Given the description of an element on the screen output the (x, y) to click on. 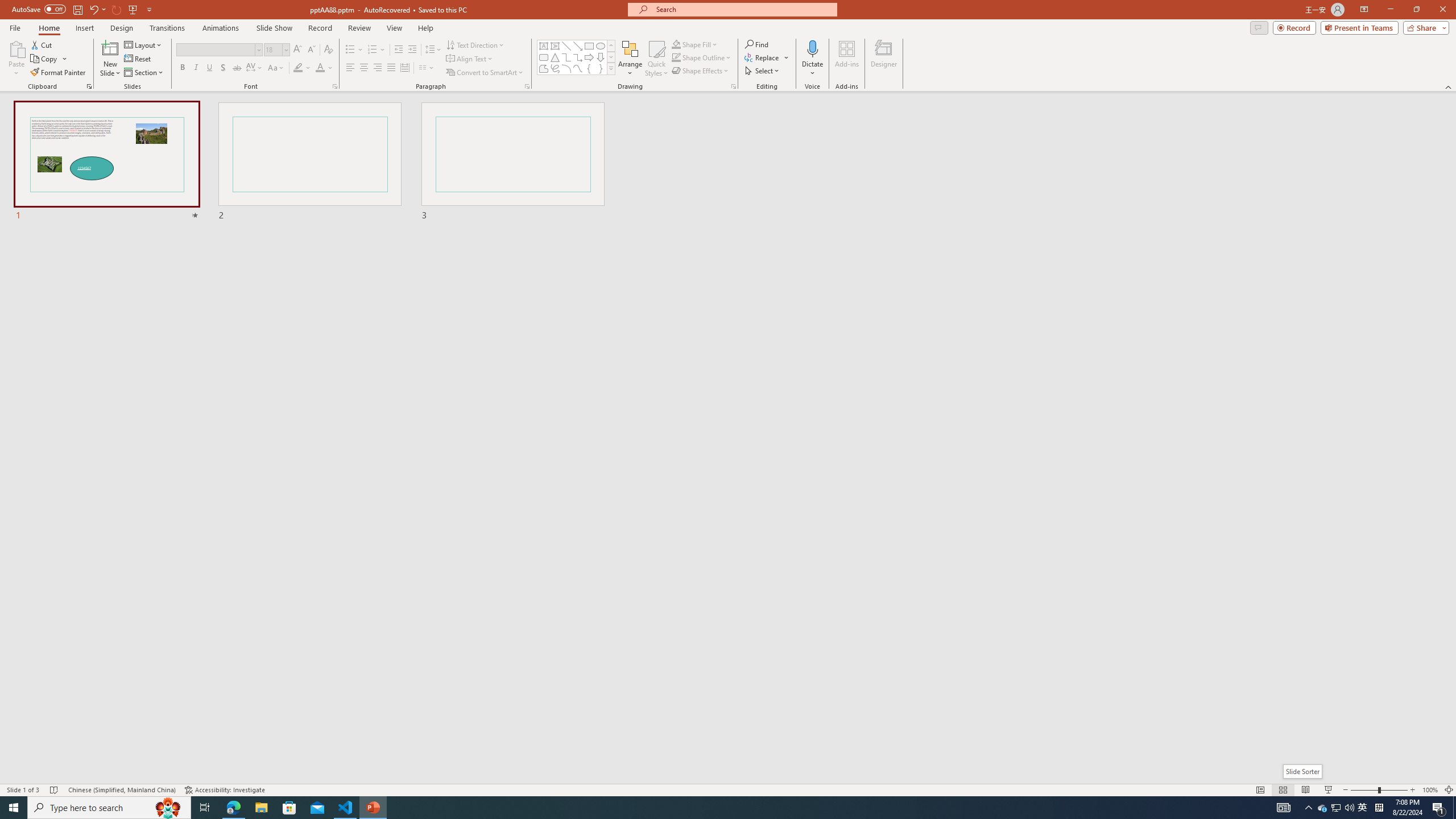
Review (359, 28)
Underline (209, 67)
Zoom to Fit  (1449, 790)
Replace... (762, 56)
Oval (600, 45)
Text Box (543, 45)
Connector: Elbow Arrow (577, 57)
Text Direction (476, 44)
Font... (334, 85)
Close (1442, 9)
Insert (83, 28)
